Given the description of an element on the screen output the (x, y) to click on. 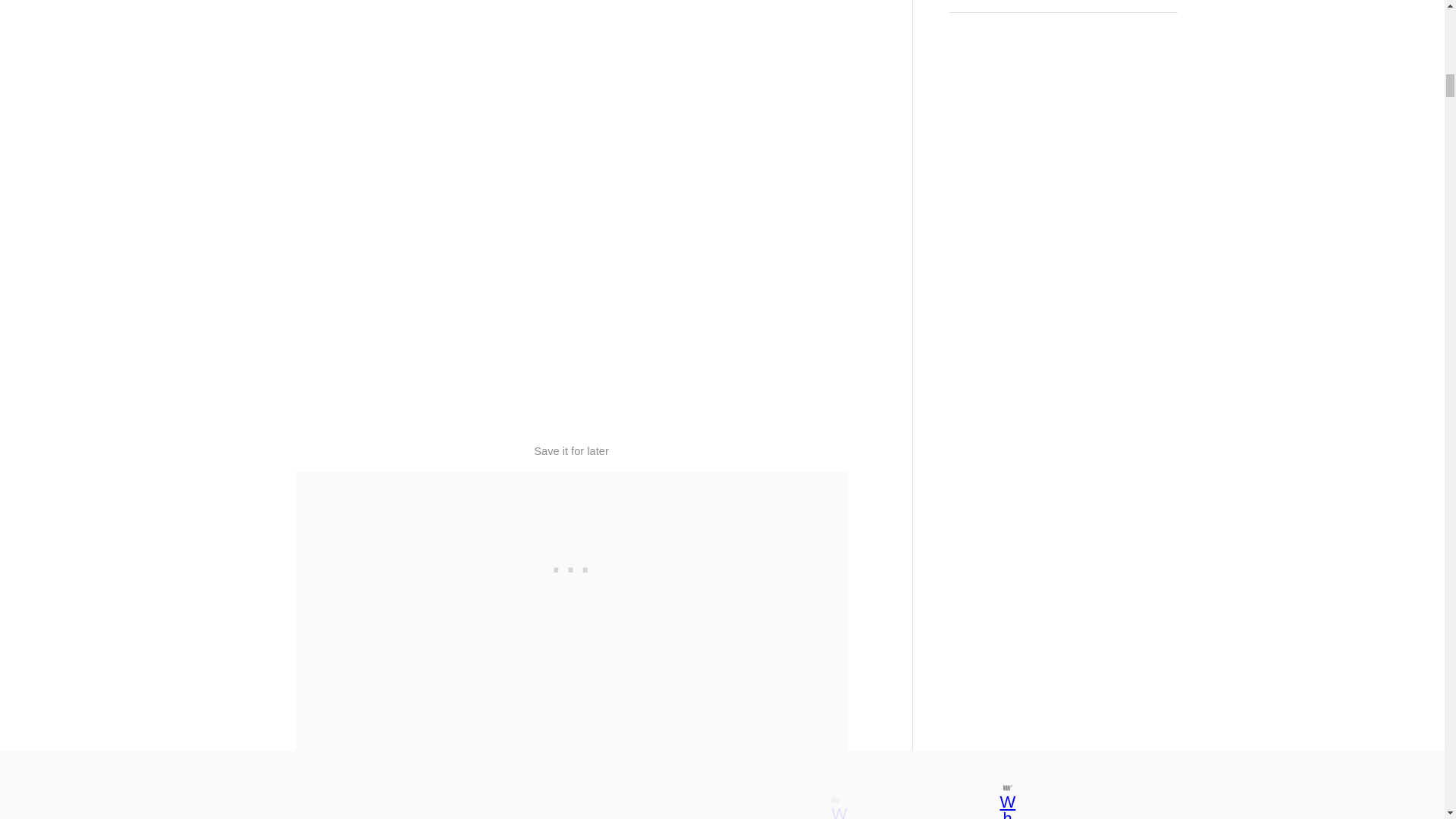
3rd party ad content (571, 565)
